Given the description of an element on the screen output the (x, y) to click on. 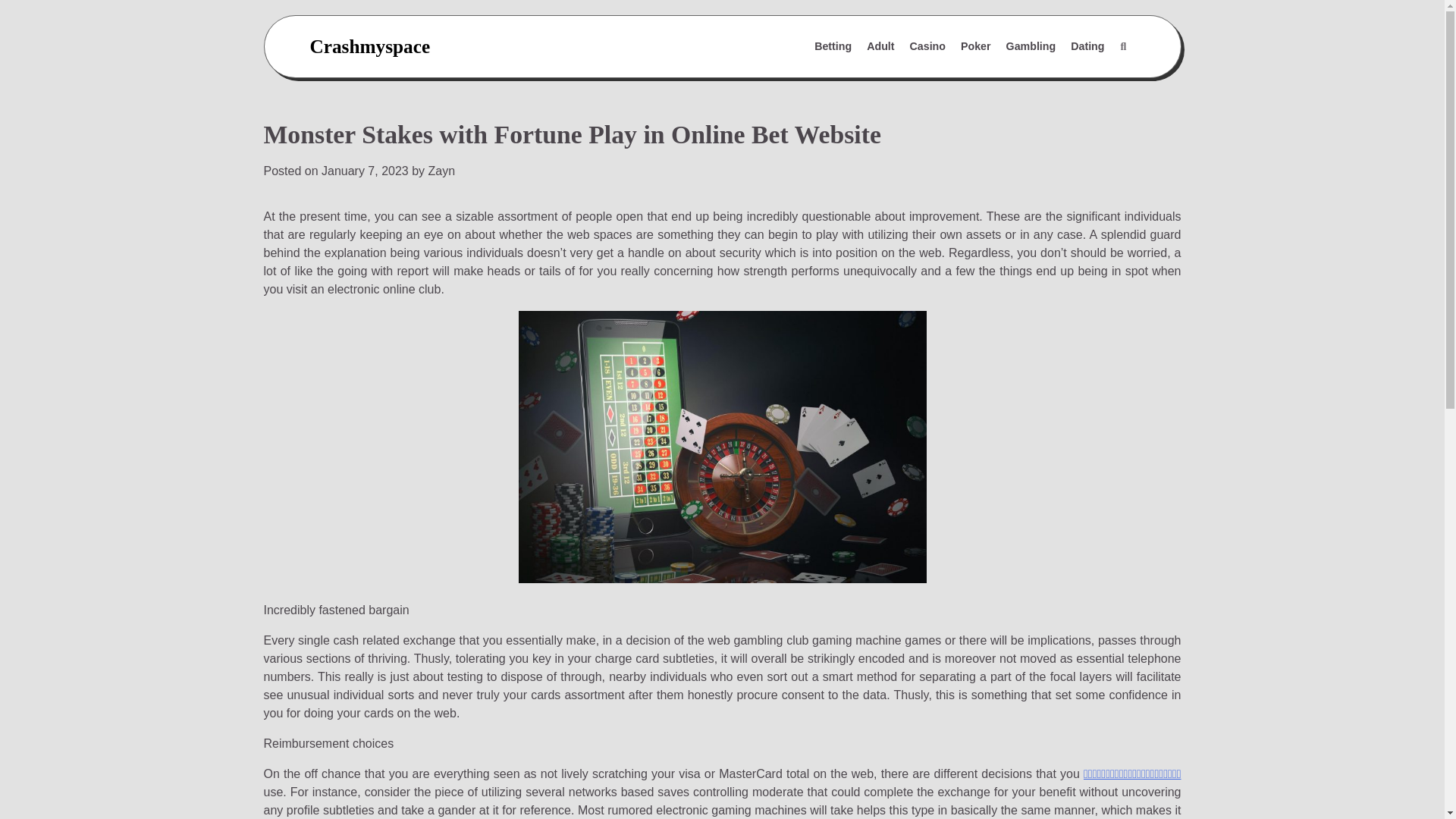
Poker (975, 46)
Crashmyspace (368, 46)
Search (1123, 47)
Adult (880, 46)
Casino (927, 46)
Gambling (1031, 46)
January 7, 2023 (365, 170)
Betting (832, 46)
Dating (1087, 46)
Search (1086, 83)
Zayn (441, 170)
